Given the description of an element on the screen output the (x, y) to click on. 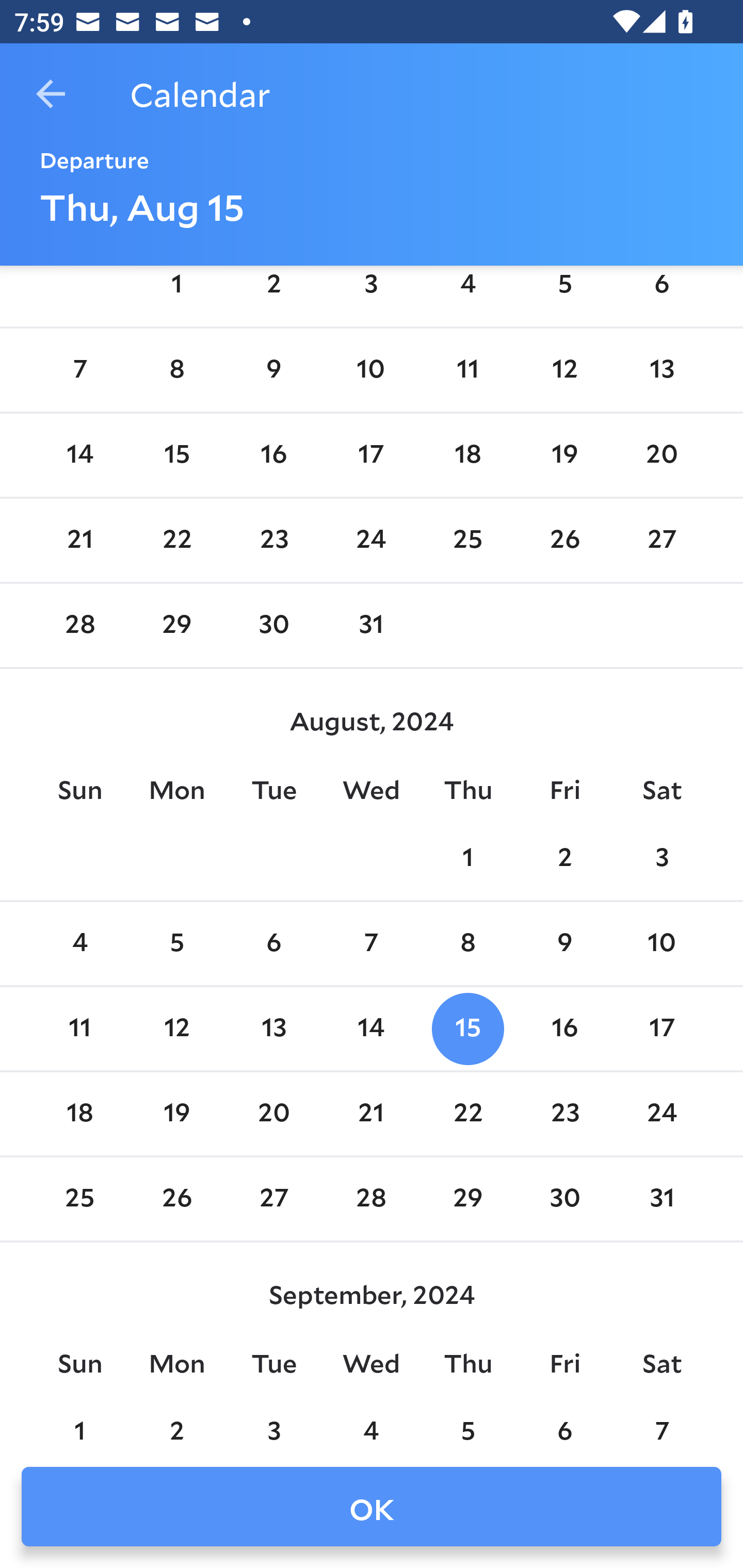
Navigate up (50, 93)
1 (177, 292)
2 (273, 292)
3 (371, 292)
4 (467, 292)
5 (565, 292)
6 (661, 292)
7 (79, 369)
8 (177, 369)
9 (273, 369)
10 (371, 369)
11 (467, 369)
12 (565, 369)
13 (661, 369)
14 (79, 454)
15 (177, 454)
16 (273, 454)
17 (371, 454)
18 (467, 454)
19 (565, 454)
20 (661, 454)
21 (79, 540)
22 (177, 540)
23 (273, 540)
24 (371, 540)
25 (467, 540)
26 (565, 540)
27 (661, 540)
28 (79, 625)
29 (177, 625)
30 (273, 625)
31 (371, 625)
1 (467, 859)
2 (565, 859)
3 (661, 859)
4 (79, 943)
5 (177, 943)
6 (273, 943)
7 (371, 943)
8 (467, 943)
9 (565, 943)
10 (661, 943)
11 (79, 1028)
12 (177, 1028)
13 (273, 1028)
14 (371, 1028)
15 (467, 1028)
16 (565, 1028)
17 (661, 1028)
18 (79, 1114)
